Given the description of an element on the screen output the (x, y) to click on. 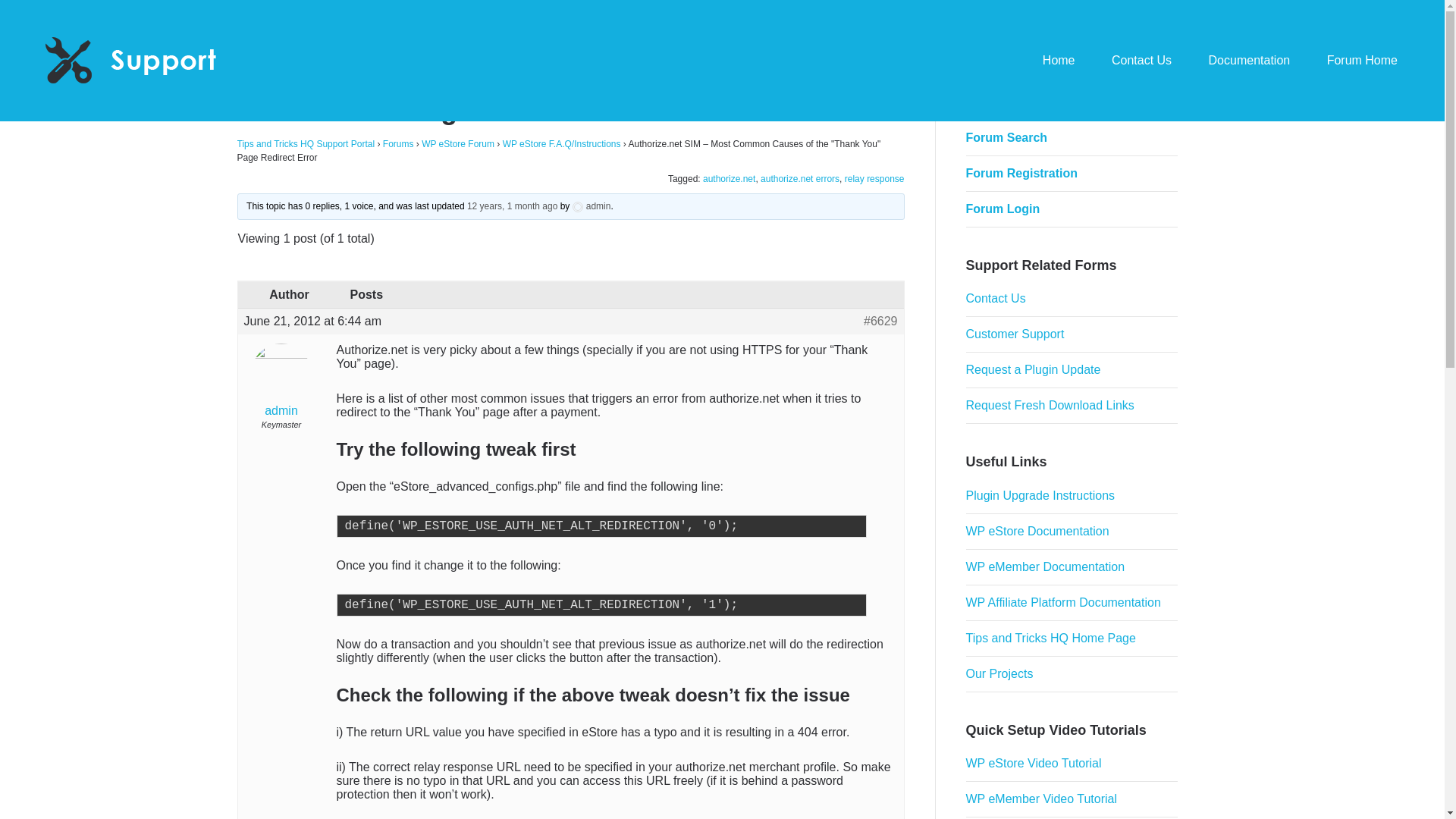
WP Affiliate Platform Documentation (1063, 602)
Home (1059, 60)
Forum Search (1007, 137)
admin (591, 205)
Tips and Tricks HQ Support Portal (304, 143)
admin (281, 382)
Customer Support (1015, 333)
Forum Home (1361, 60)
WP eMember Documentation (1045, 566)
WP eStore Documentation (1037, 530)
